Given the description of an element on the screen output the (x, y) to click on. 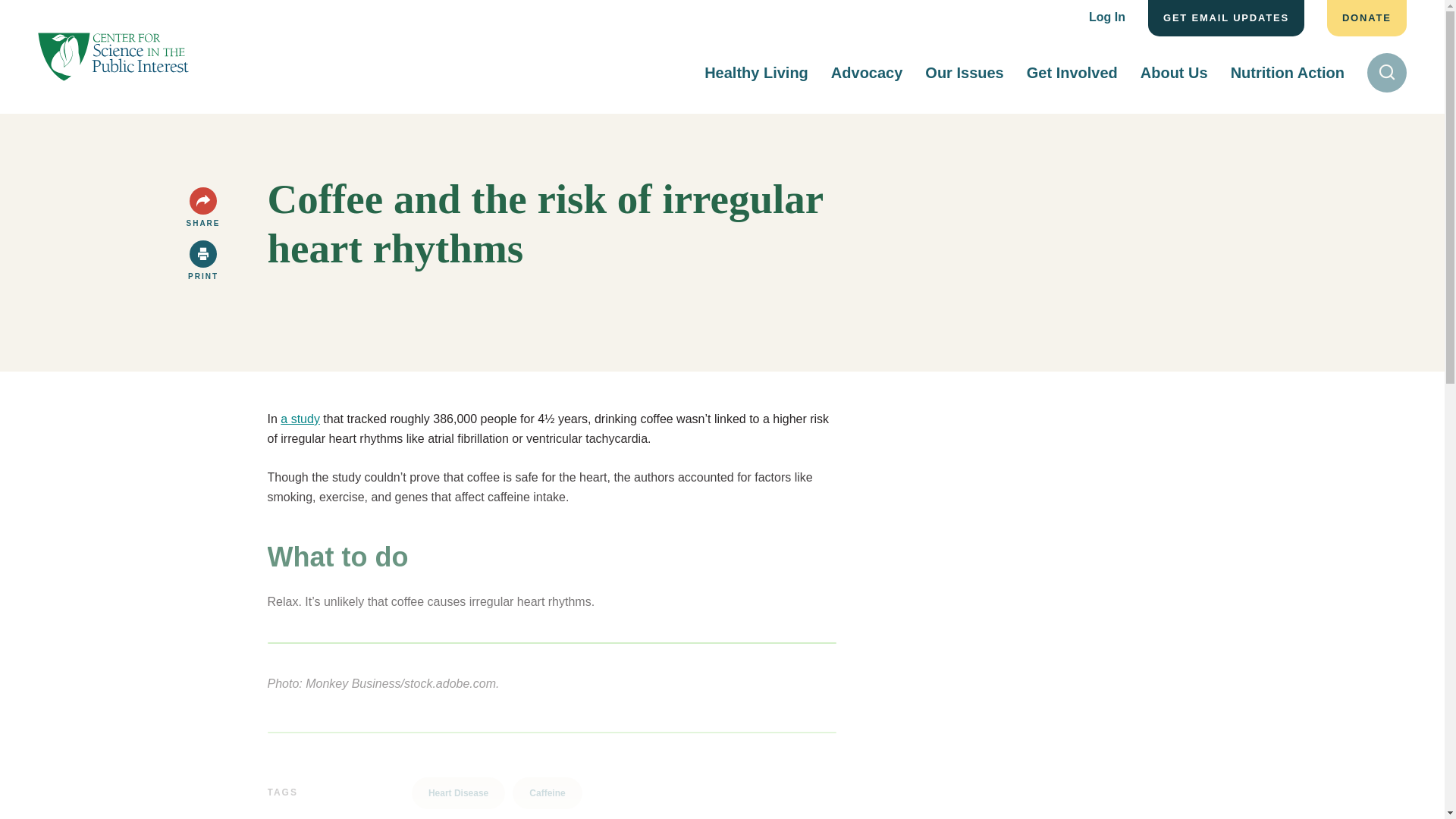
Advocacy (866, 72)
DONATE (1366, 18)
Healthy Living (756, 72)
SKIP TO MAIN CONTENT (22, 14)
Log In (1107, 18)
GET EMAIL UPDATES (1226, 18)
